Given the description of an element on the screen output the (x, y) to click on. 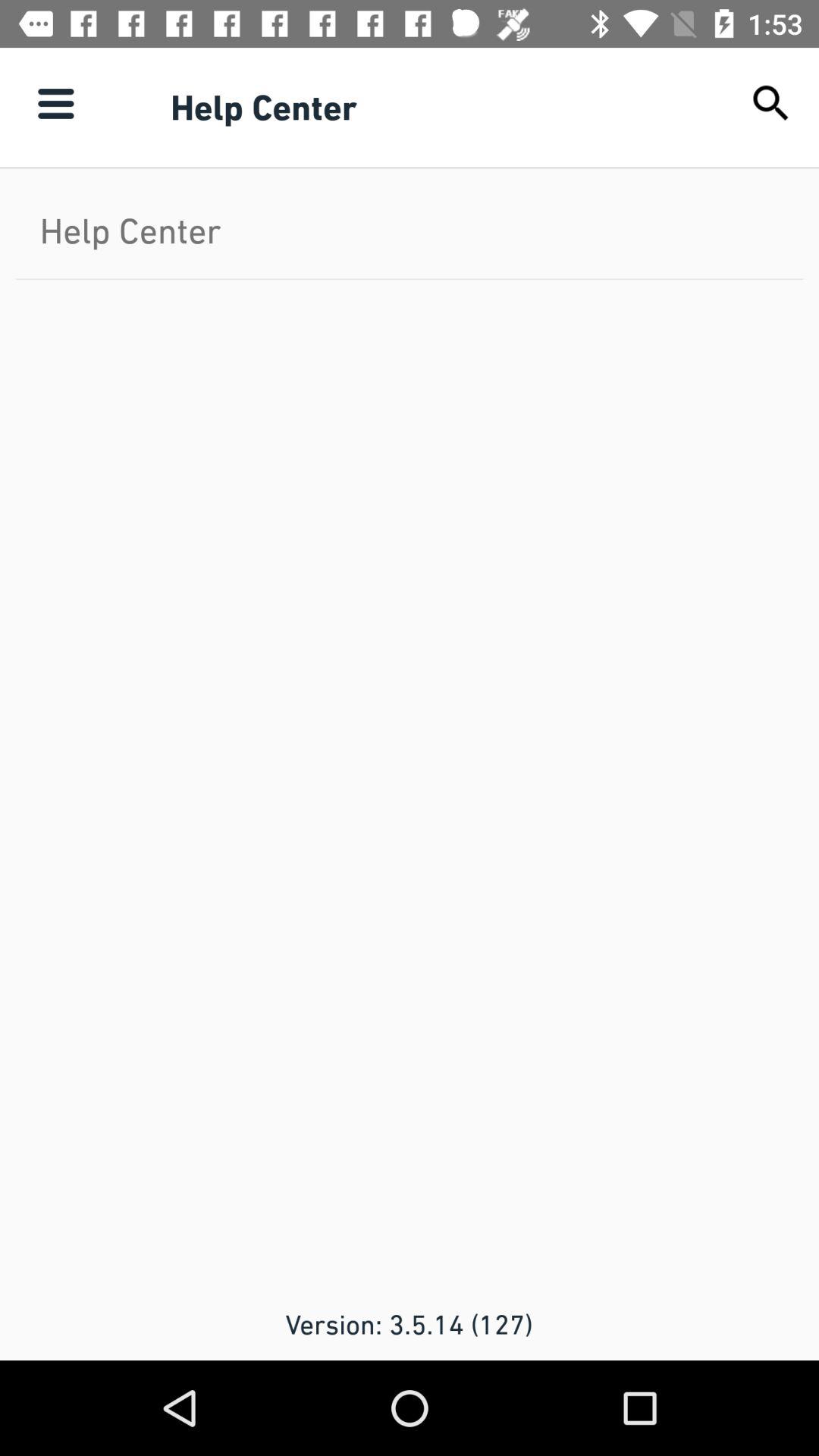
turn off item next to help center icon (55, 103)
